Given the description of an element on the screen output the (x, y) to click on. 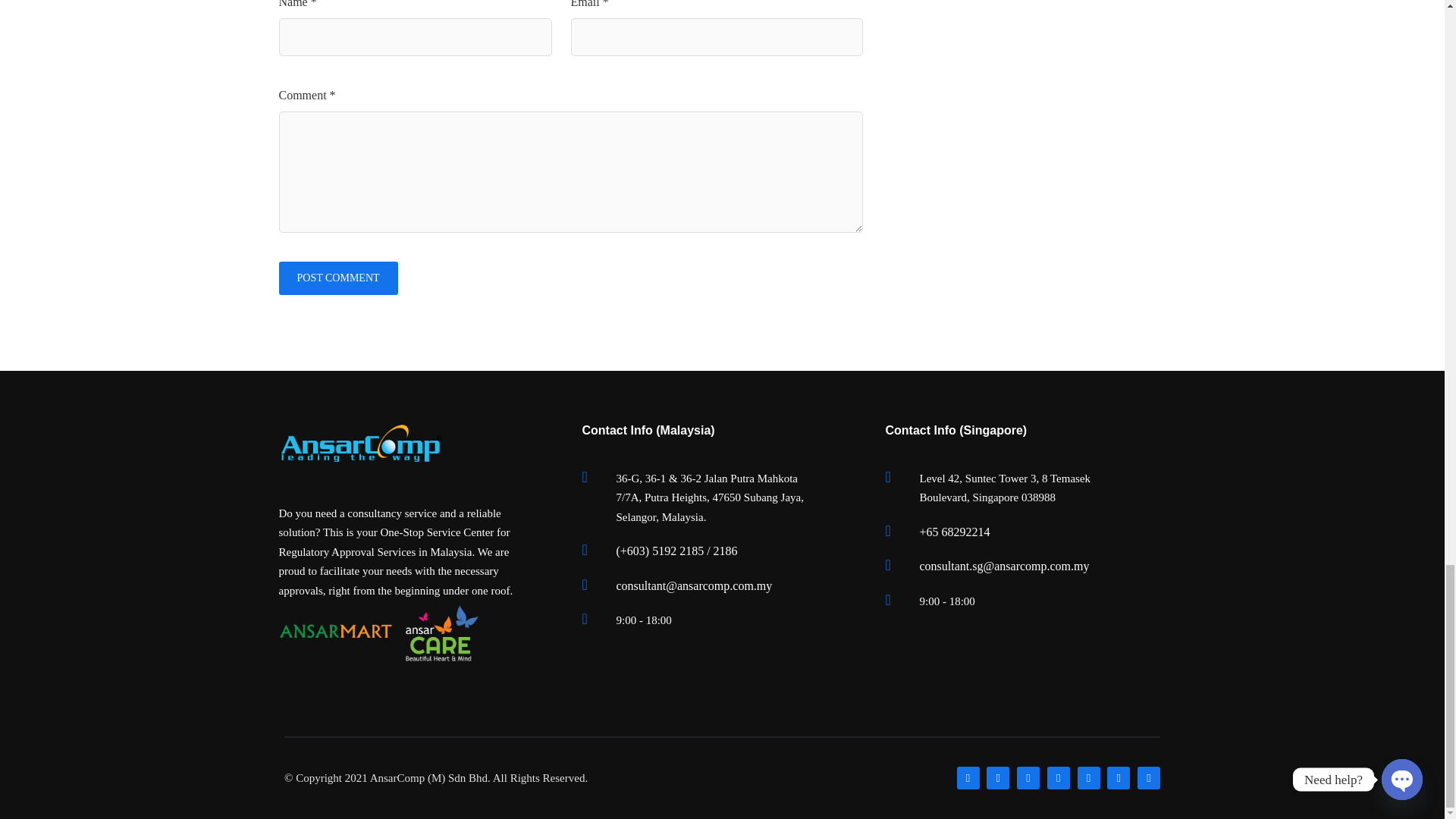
Post Comment (338, 277)
